Given the description of an element on the screen output the (x, y) to click on. 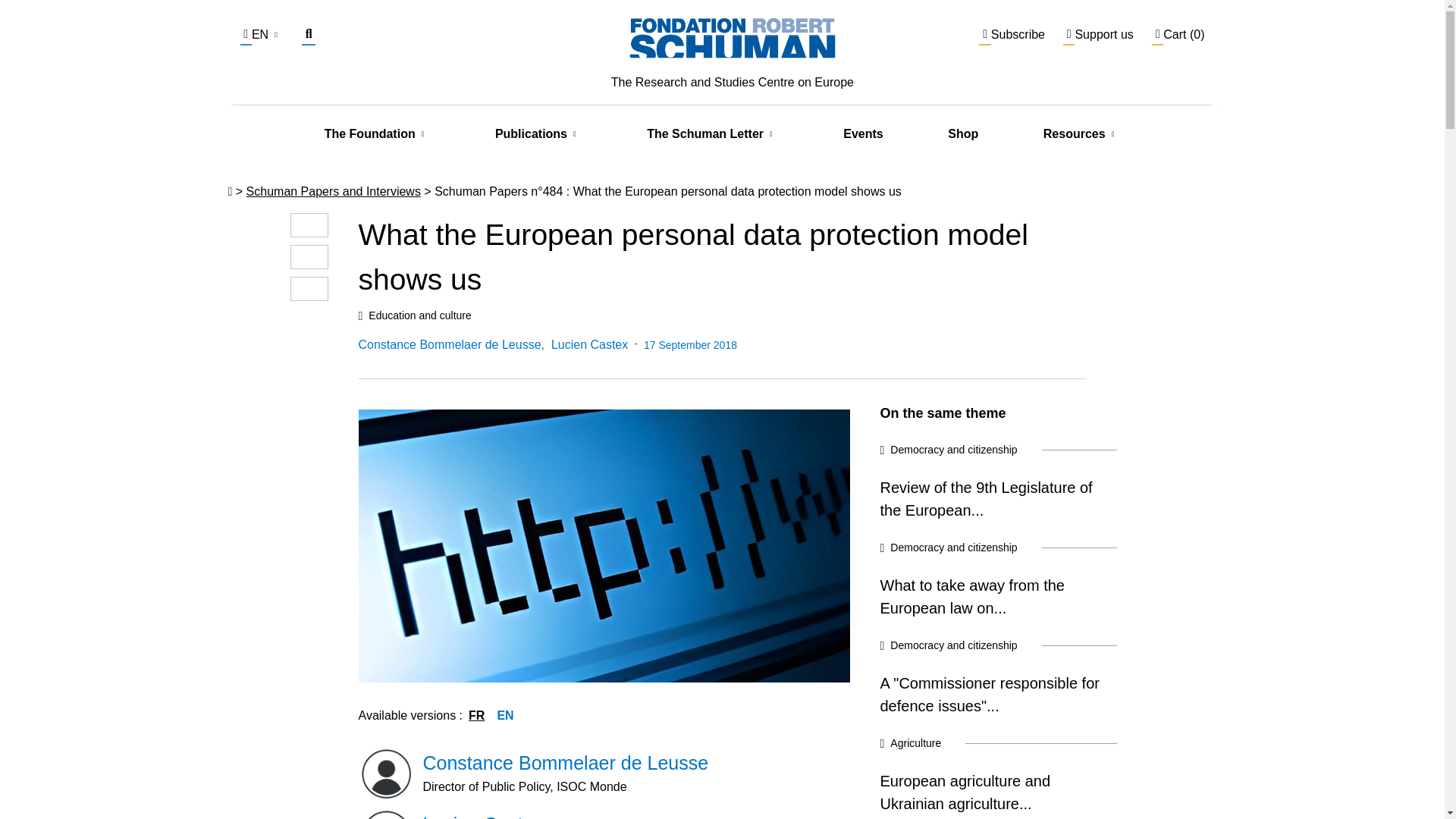
Support us (1098, 34)
Subscribe (1011, 34)
Shop (962, 133)
Schuman Papers and Interviews (333, 191)
The Research and Studies Centre on Europe (732, 50)
Resources (1074, 134)
Events (862, 133)
